Given the description of an element on the screen output the (x, y) to click on. 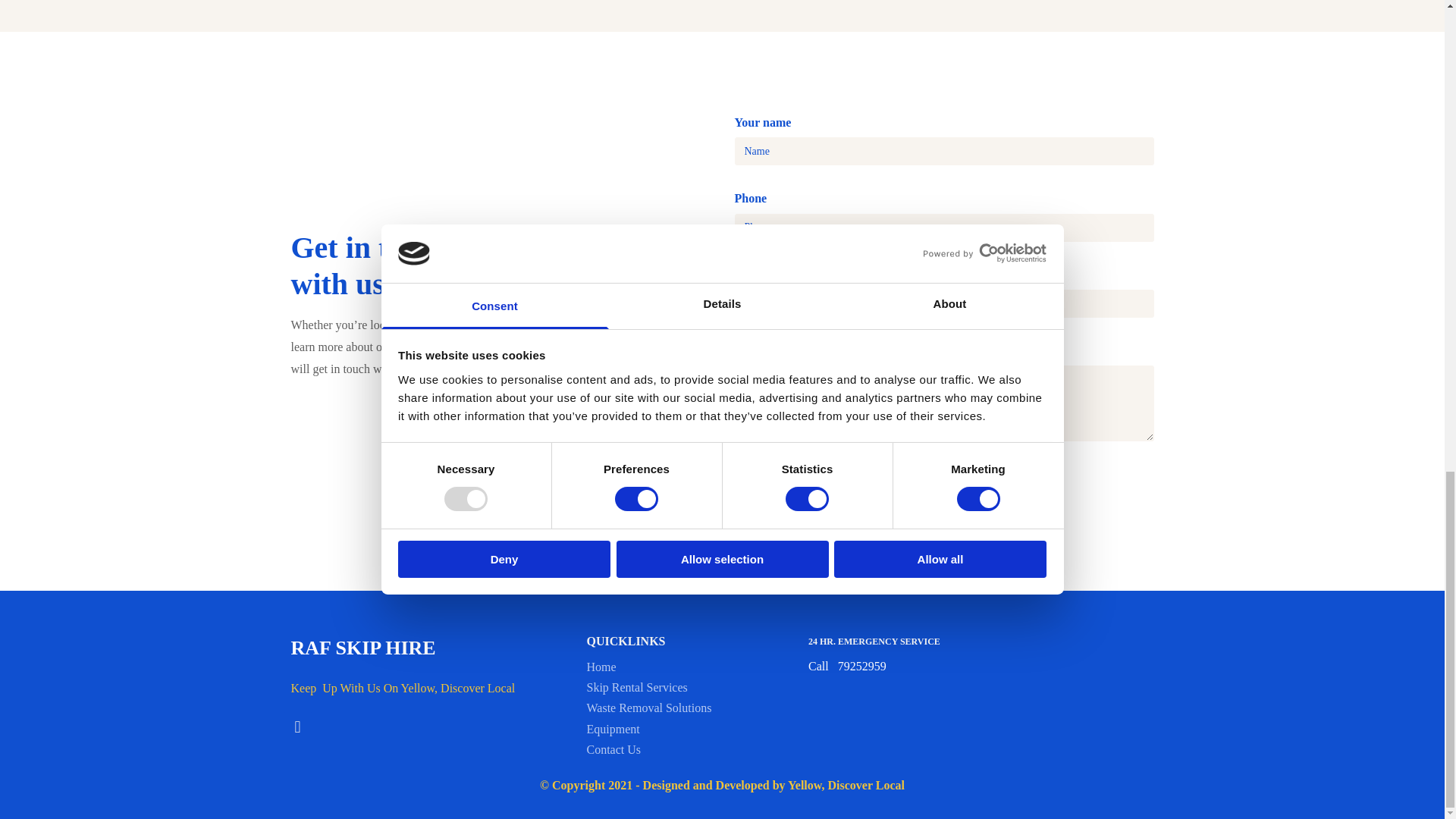
Send (771, 495)
Send (771, 495)
Facebook (297, 726)
Keep  Up With Us On Yellow, Discover Local (403, 687)
